Given the description of an element on the screen output the (x, y) to click on. 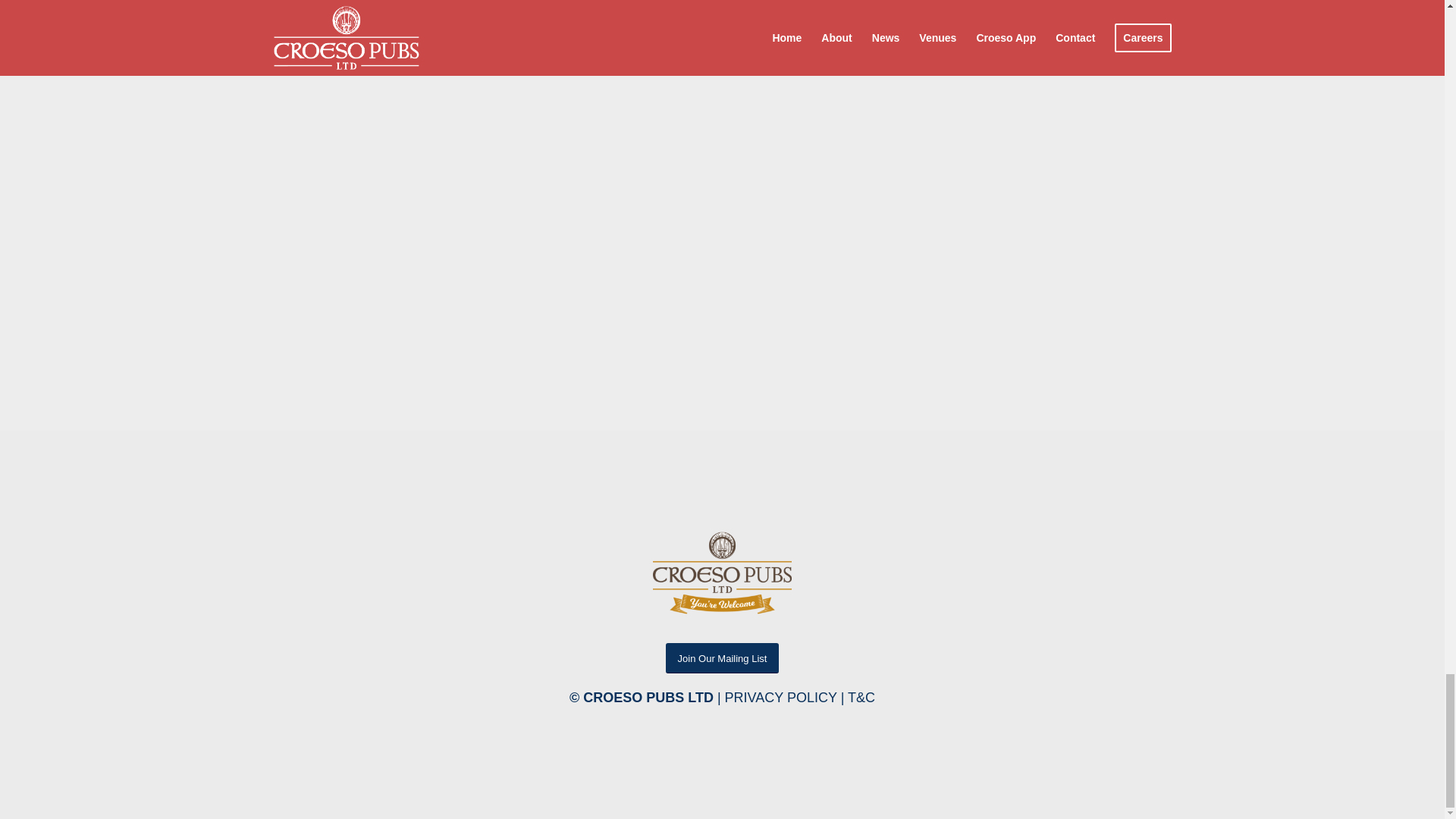
PRIVACY POLICY (781, 697)
Croeso-Pubs-Logo (722, 573)
Join Our Mailing List (721, 657)
CROESO PUBS LTD (648, 697)
